Given the description of an element on the screen output the (x, y) to click on. 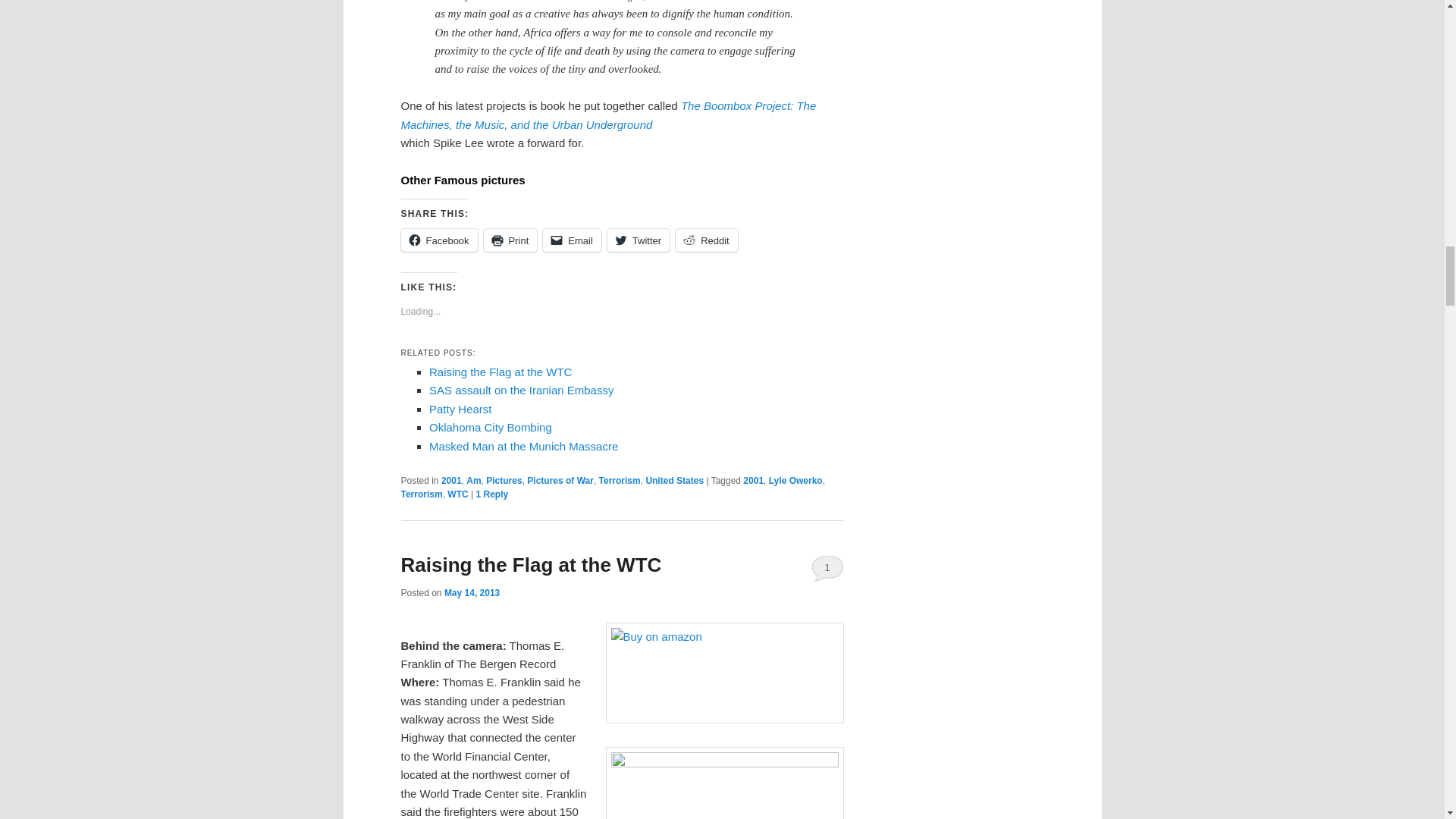
Click to print (510, 240)
Click to email a link to a friend (572, 240)
Click to share on Facebook (438, 240)
